Given the description of an element on the screen output the (x, y) to click on. 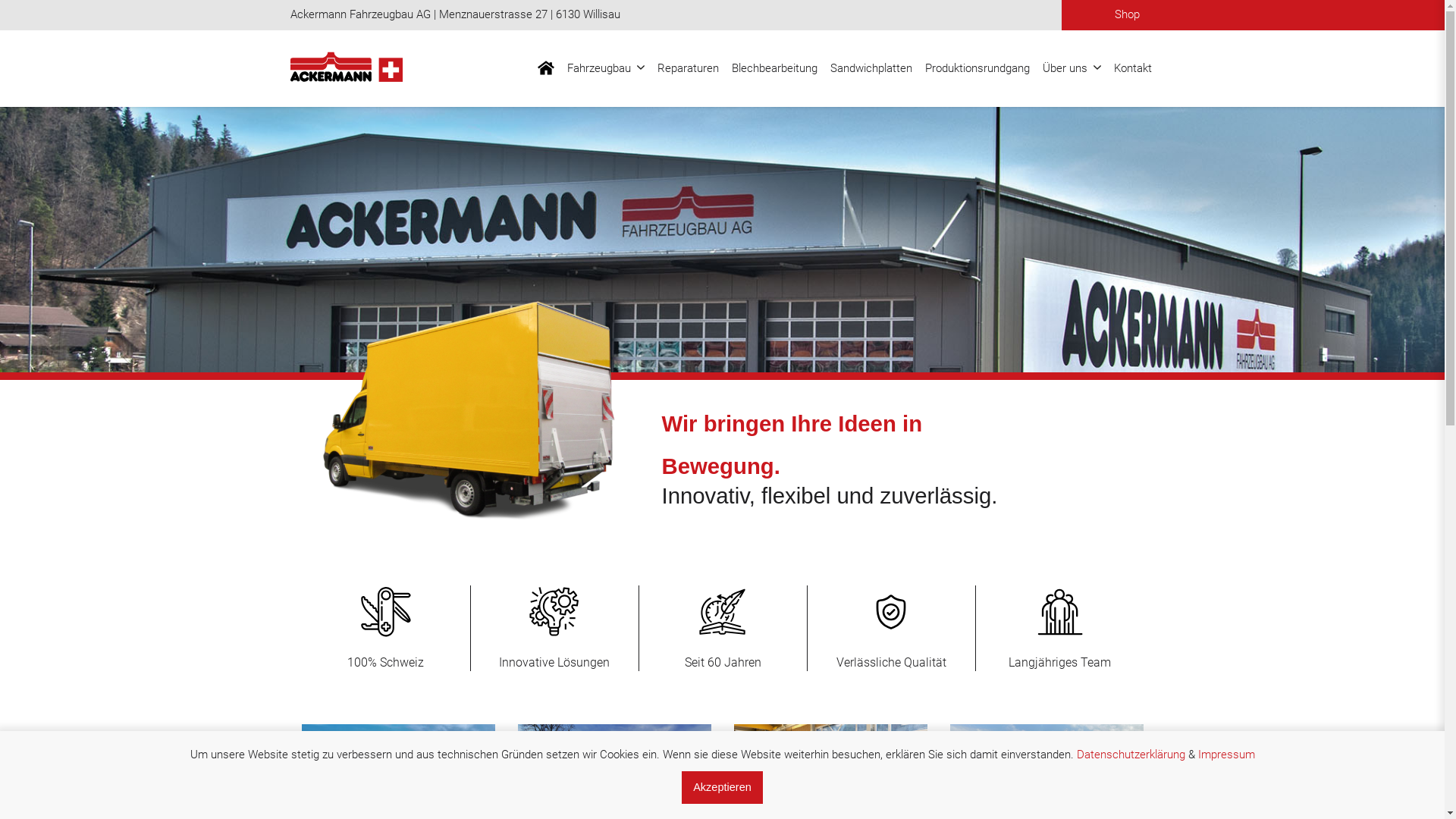
Impressum Element type: text (1226, 754)
100% Schweiz Element type: text (385, 628)
Reparaturen Element type: text (688, 68)
Shop Element type: text (1126, 15)
Kontakt Element type: text (1132, 68)
Home Element type: hover (351, 68)
Produktionsrundgang Element type: text (977, 68)
Blechbearbeitung Element type: text (774, 68)
Seit 60 Jahren Element type: text (722, 628)
Sandwichplatten Element type: text (871, 68)
Fahrzeugbau Element type: text (605, 68)
